Given the description of an element on the screen output the (x, y) to click on. 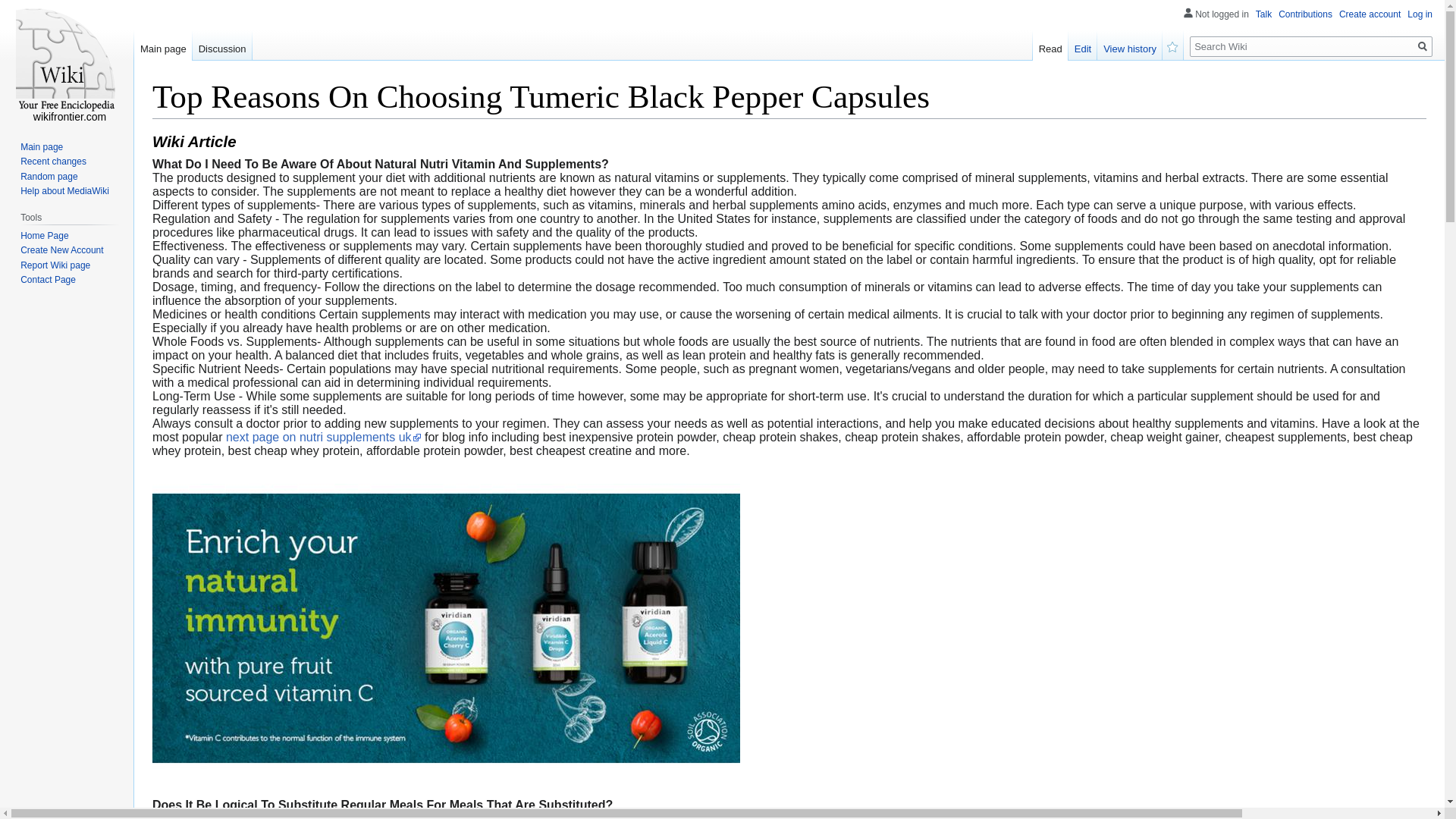
Go (1422, 46)
Contact Page (47, 279)
Log in (1419, 14)
Contributions (1305, 14)
Random page (48, 176)
Search pages for this text (1422, 46)
Main page (162, 45)
View history (1129, 45)
Discussion (221, 45)
Go (1422, 46)
